Given the description of an element on the screen output the (x, y) to click on. 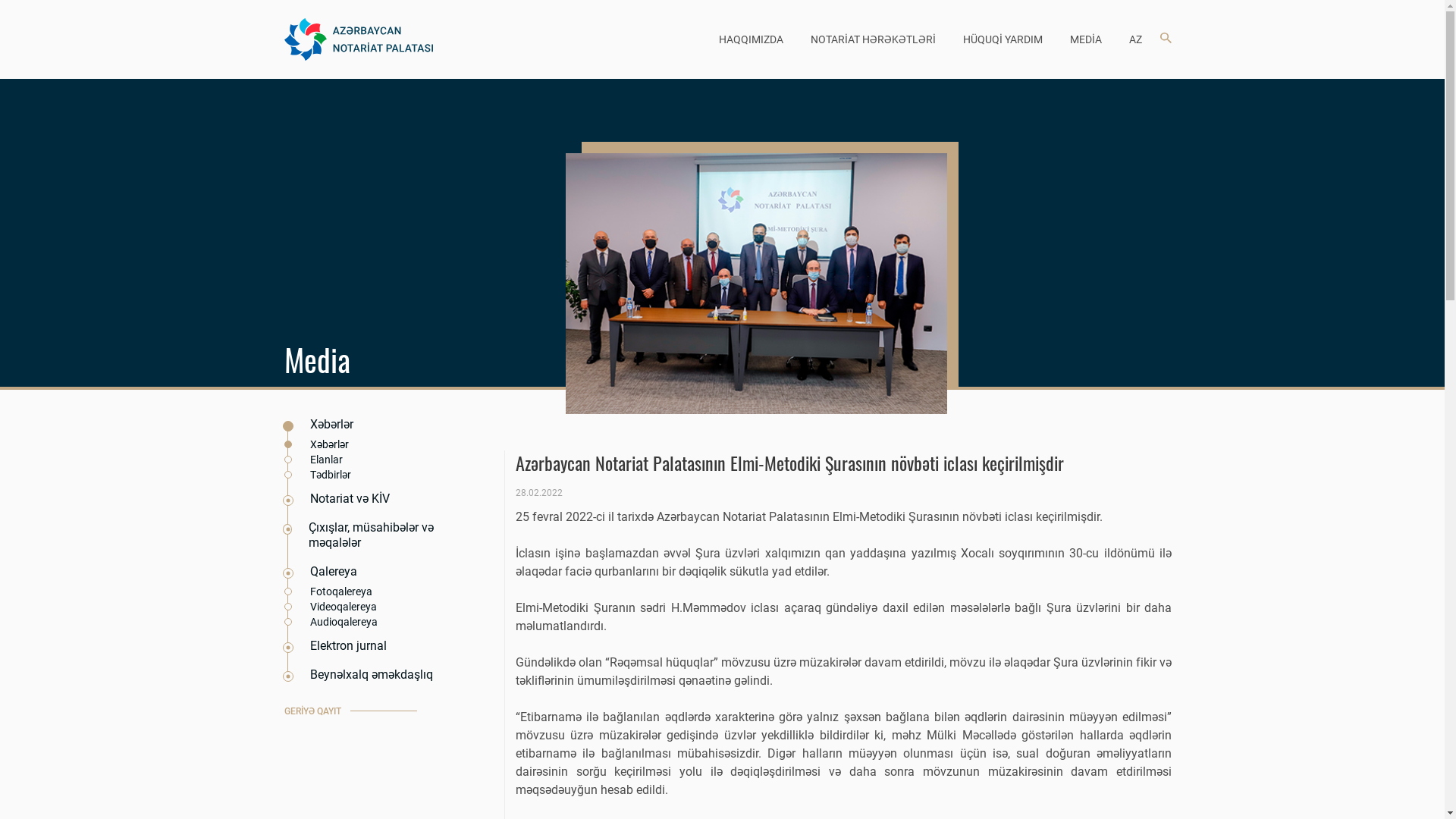
HAQQIMIZDA Element type: text (750, 39)
Elanlar Element type: text (372, 459)
Audioqalereya Element type: text (372, 621)
Elektron jurnal Element type: text (371, 645)
Qalereya Element type: text (371, 571)
AZ Element type: text (1135, 39)
Videoqalereya Element type: text (372, 606)
Fotoqalereya Element type: text (372, 591)
